Given the description of an element on the screen output the (x, y) to click on. 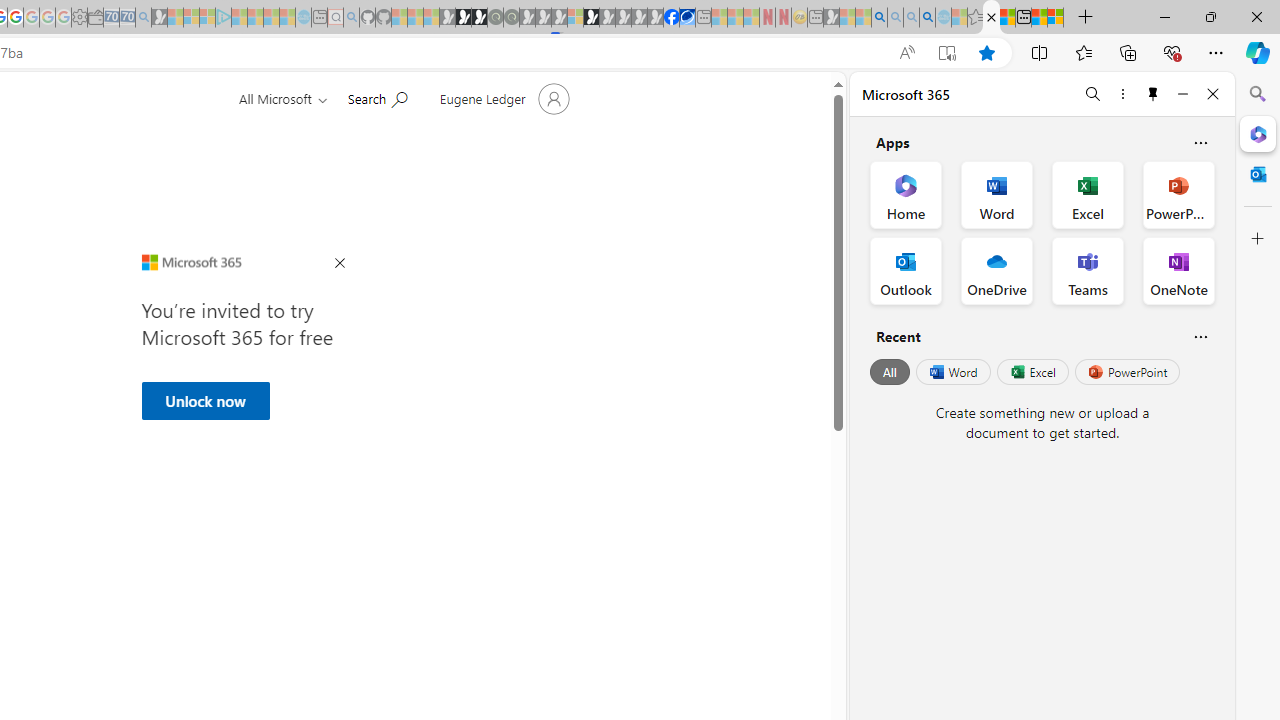
Home Office App (906, 194)
Sign in to your account - Sleeping (575, 17)
Bing AI - Search (879, 17)
Excel (1031, 372)
PowerPoint (1127, 372)
Outlook Office App (906, 270)
All (890, 372)
